Given the description of an element on the screen output the (x, y) to click on. 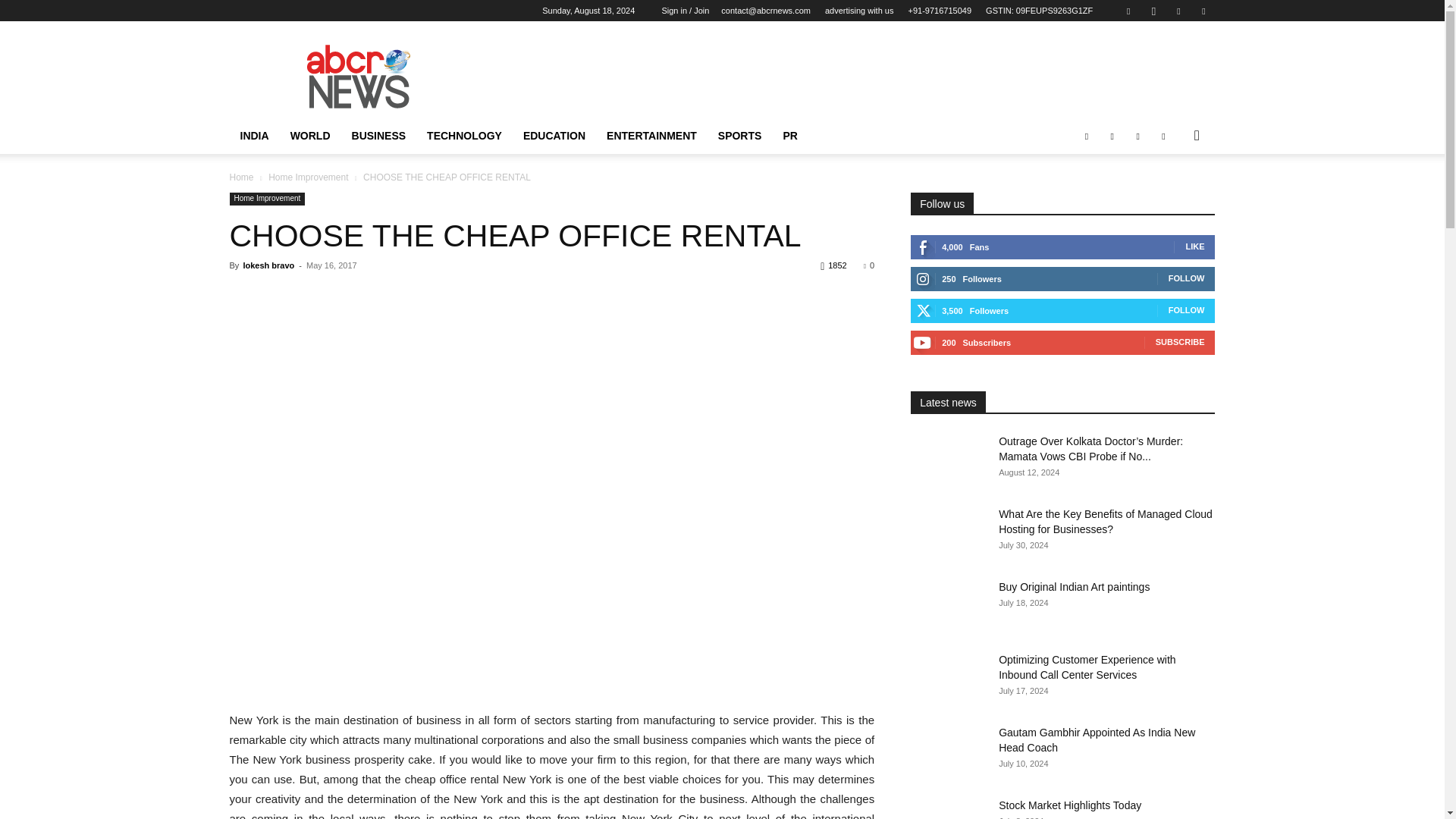
advertising with us (859, 10)
INDIA (253, 135)
GSTIN: 09FEUPS9263G1ZF (1039, 10)
Linkedin (1178, 10)
Instagram (1152, 10)
Facebook (1128, 10)
Youtube (1203, 10)
